Given the description of an element on the screen output the (x, y) to click on. 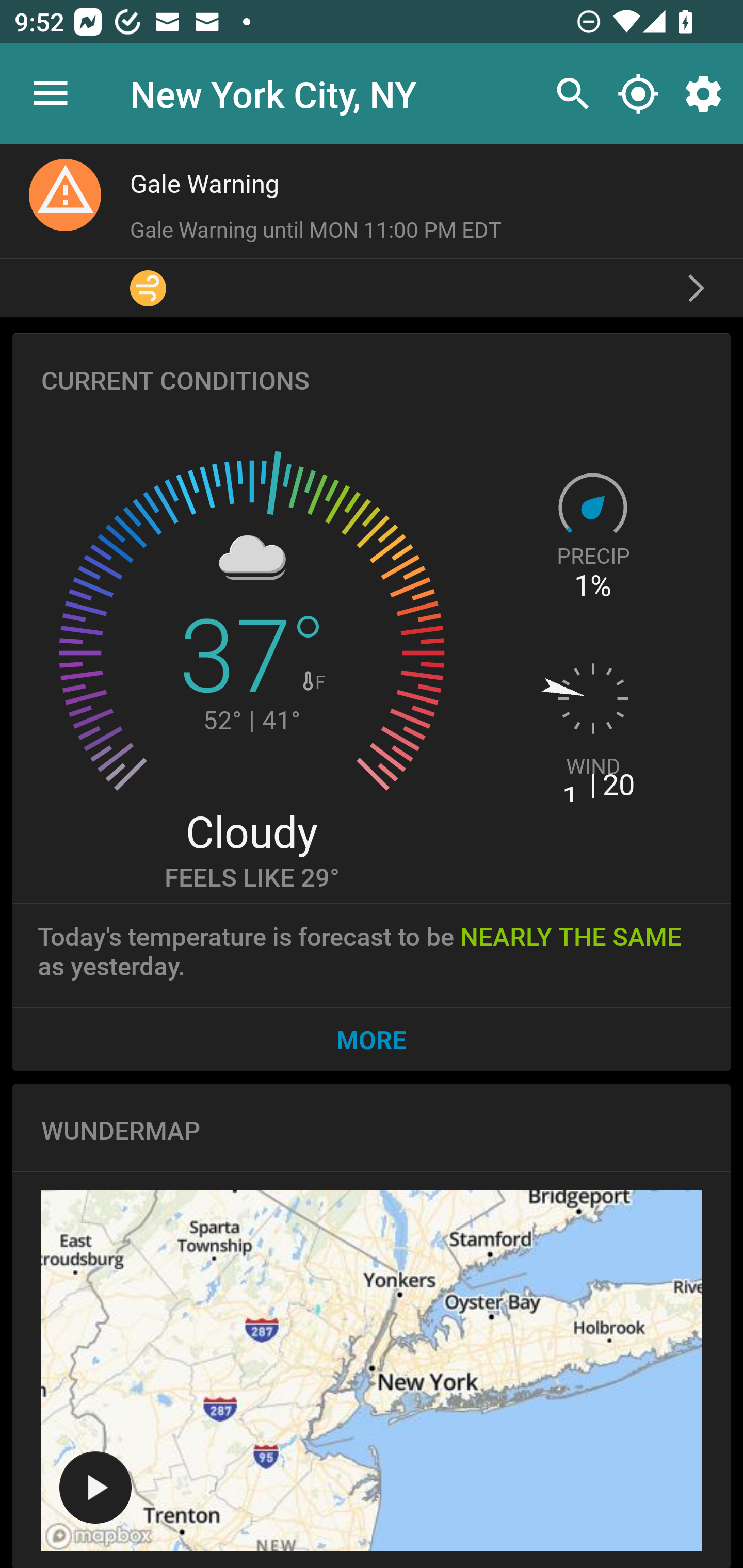
Press to open location manager. (50, 93)
Search for location (567, 94)
Select GPS location (637, 94)
Settings (706, 94)
New York City, NY (273, 92)
Gale Warning Gale Warning until MON 11:00 PM EDT (371, 230)
1% (592, 586)
Cloudy (251, 830)
MORE (371, 1039)
Weather Map (371, 1370)
Weather Map (95, 1487)
